Given the description of an element on the screen output the (x, y) to click on. 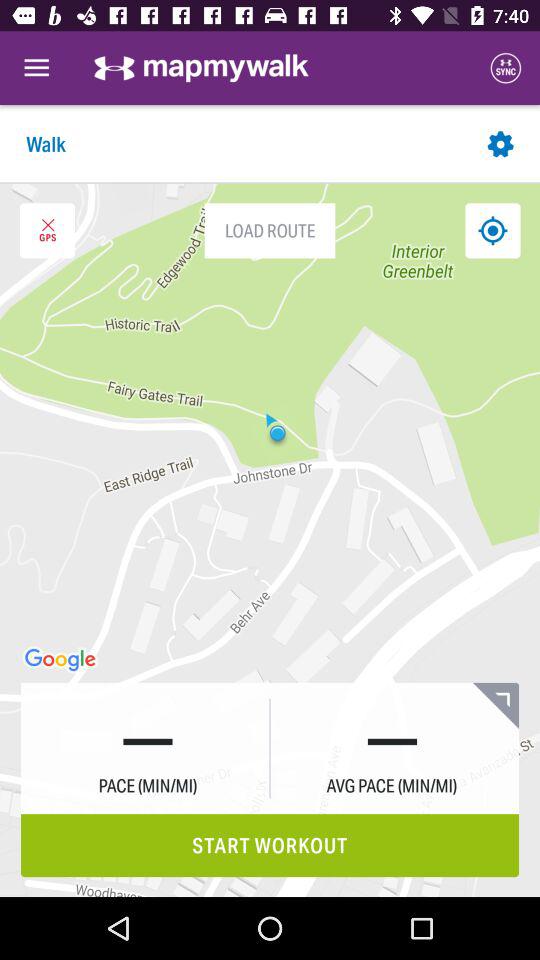
exit gps (47, 230)
